Given the description of an element on the screen output the (x, y) to click on. 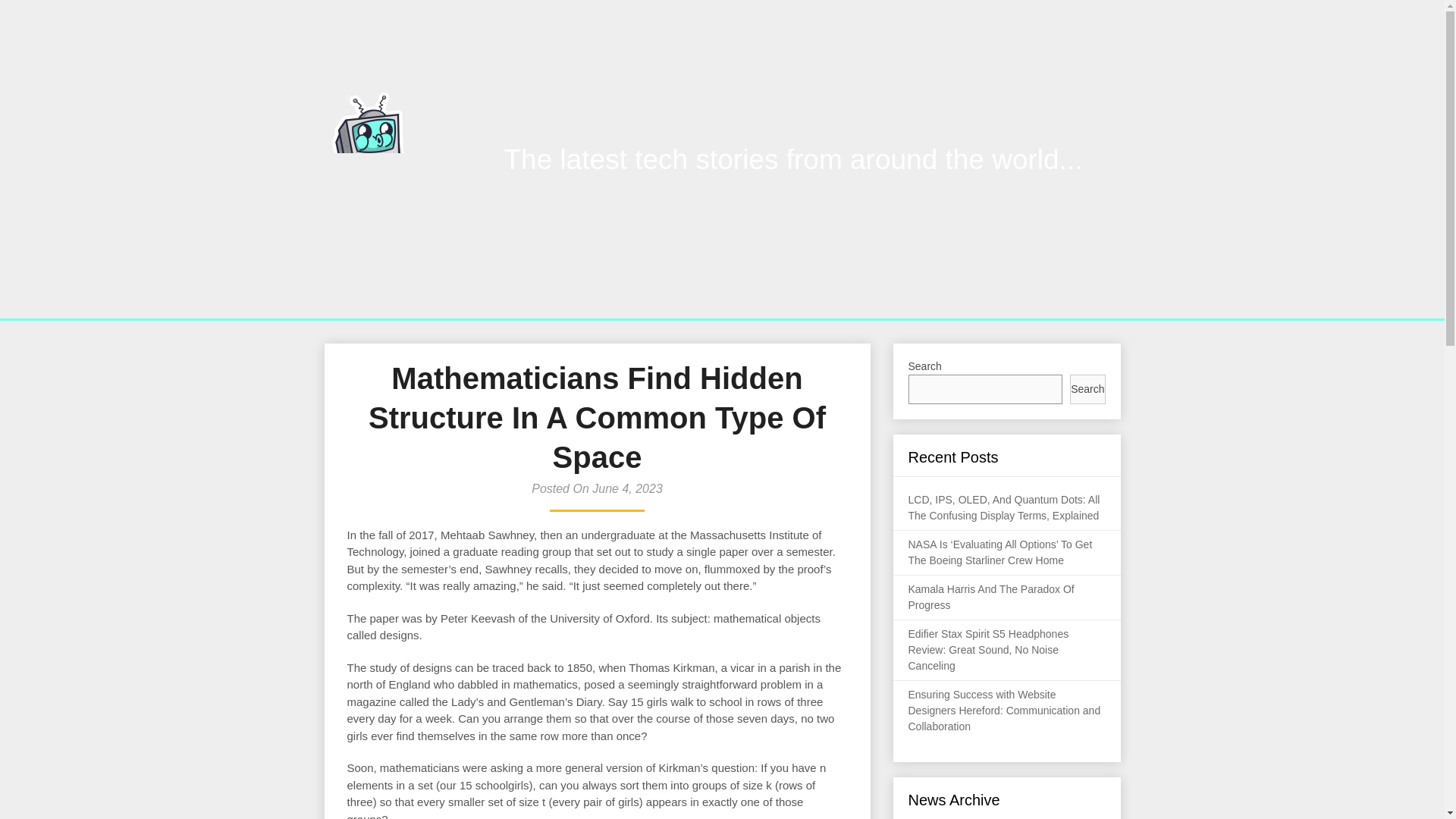
Search (1087, 389)
Kamala Harris And The Paradox Of Progress (991, 596)
